Given the description of an element on the screen output the (x, y) to click on. 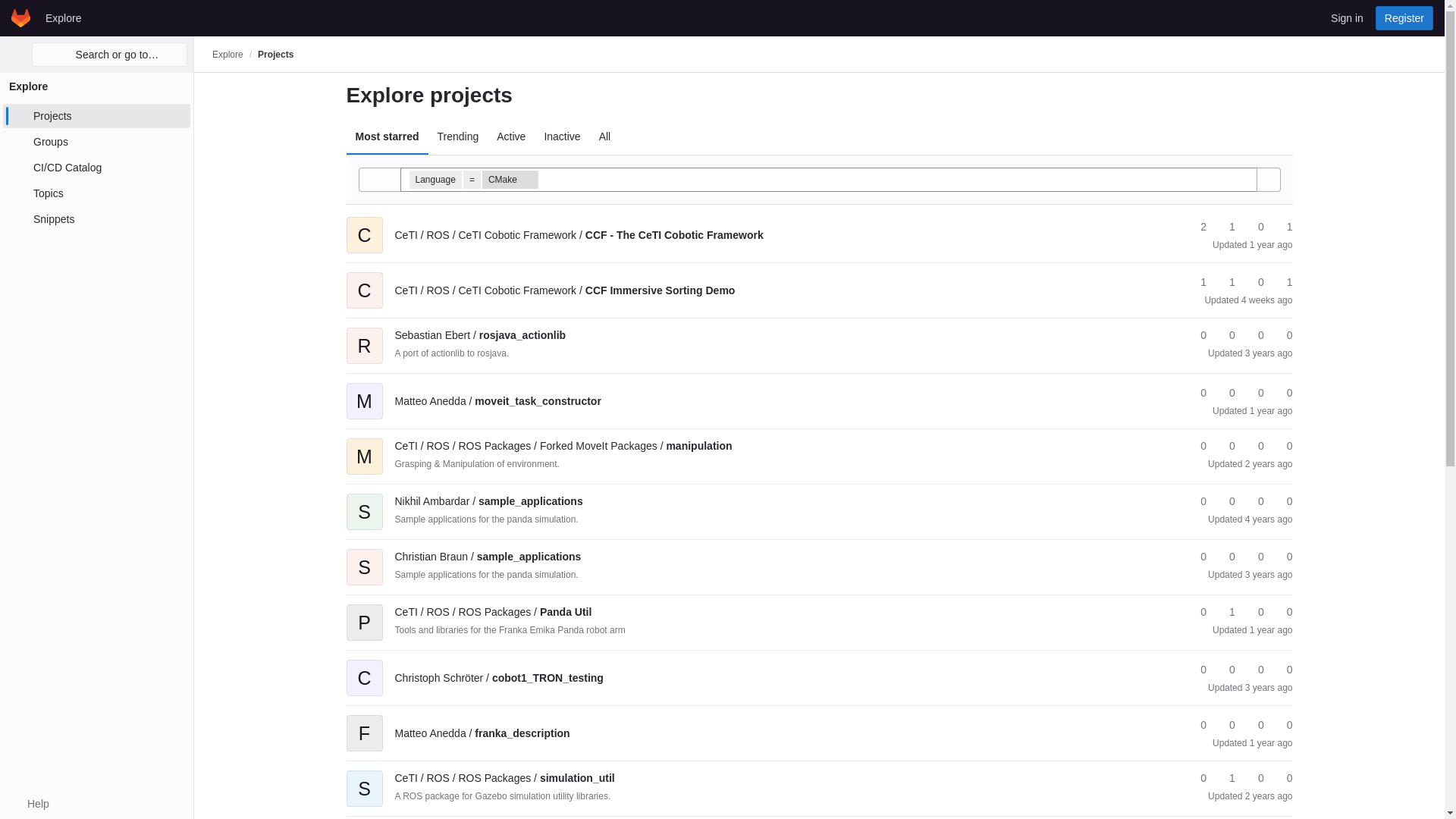
Stars (1196, 282)
Projects (96, 115)
Register (1403, 17)
Inactive (561, 135)
Forks (1224, 282)
Groups (96, 141)
Explore (227, 54)
Issues (1282, 282)
Help (30, 803)
Forks (1224, 227)
